Given the description of an element on the screen output the (x, y) to click on. 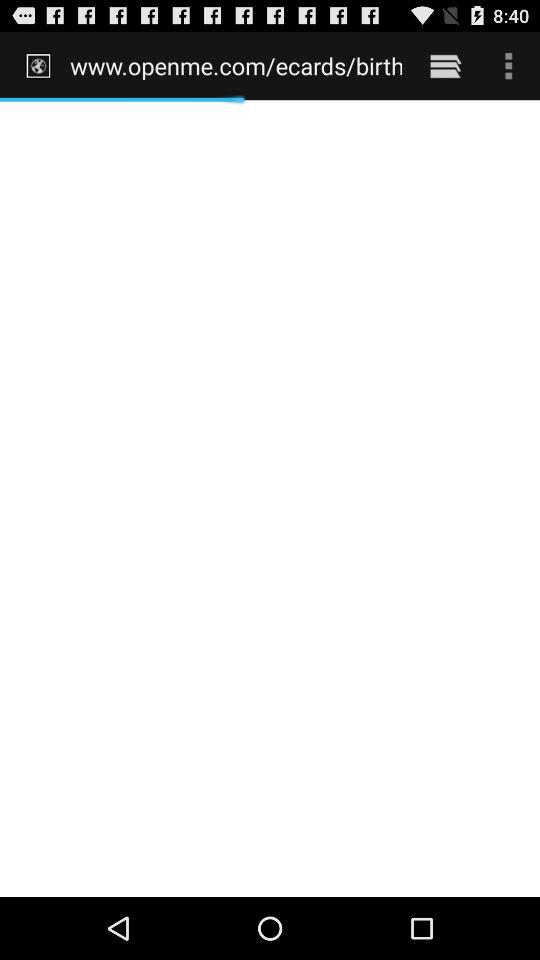
turn on the item to the right of the www openme com item (444, 65)
